Given the description of an element on the screen output the (x, y) to click on. 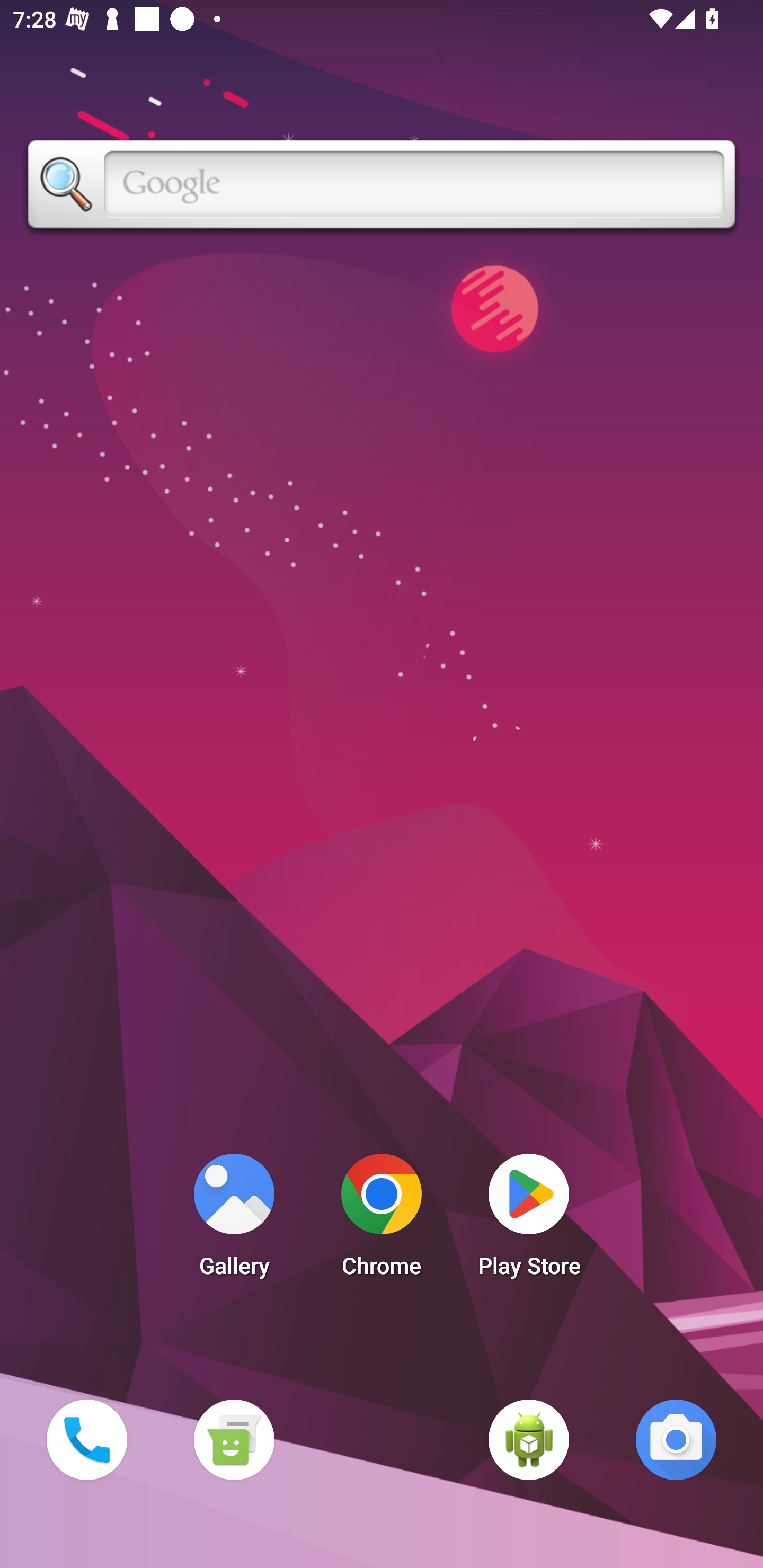
Gallery (233, 1220)
Chrome (381, 1220)
Play Store (528, 1220)
Phone (86, 1439)
Messaging (233, 1439)
WebView Browser Tester (528, 1439)
Camera (676, 1439)
